Given the description of an element on the screen output the (x, y) to click on. 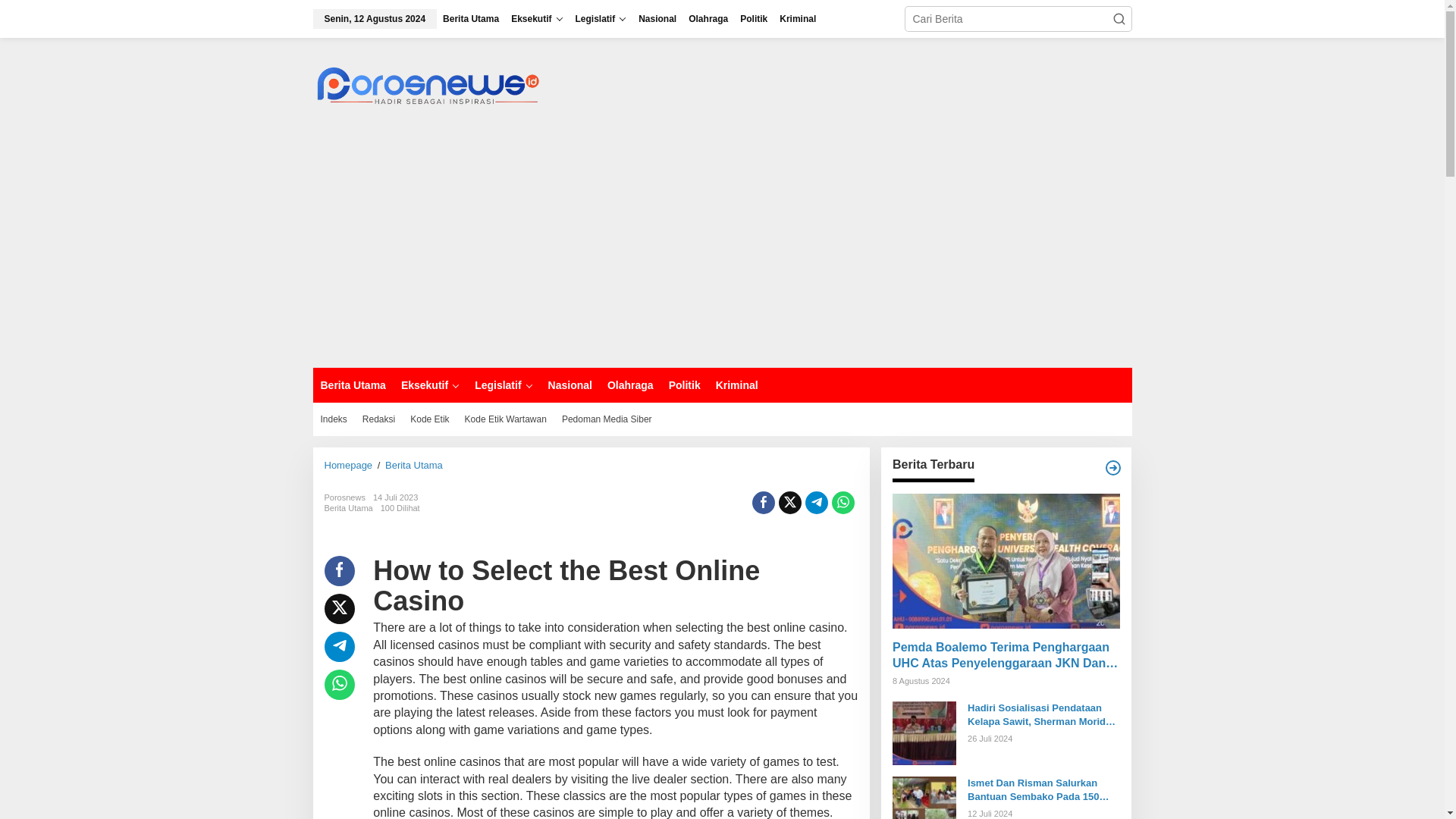
Kriminal (797, 18)
Eksekutif (430, 384)
Kriminal (797, 18)
Indeks (333, 418)
Legislatif (600, 18)
Eksekutif (537, 18)
Berita Utama (353, 384)
Berita Utama (470, 18)
Olahraga (707, 18)
